Given the description of an element on the screen output the (x, y) to click on. 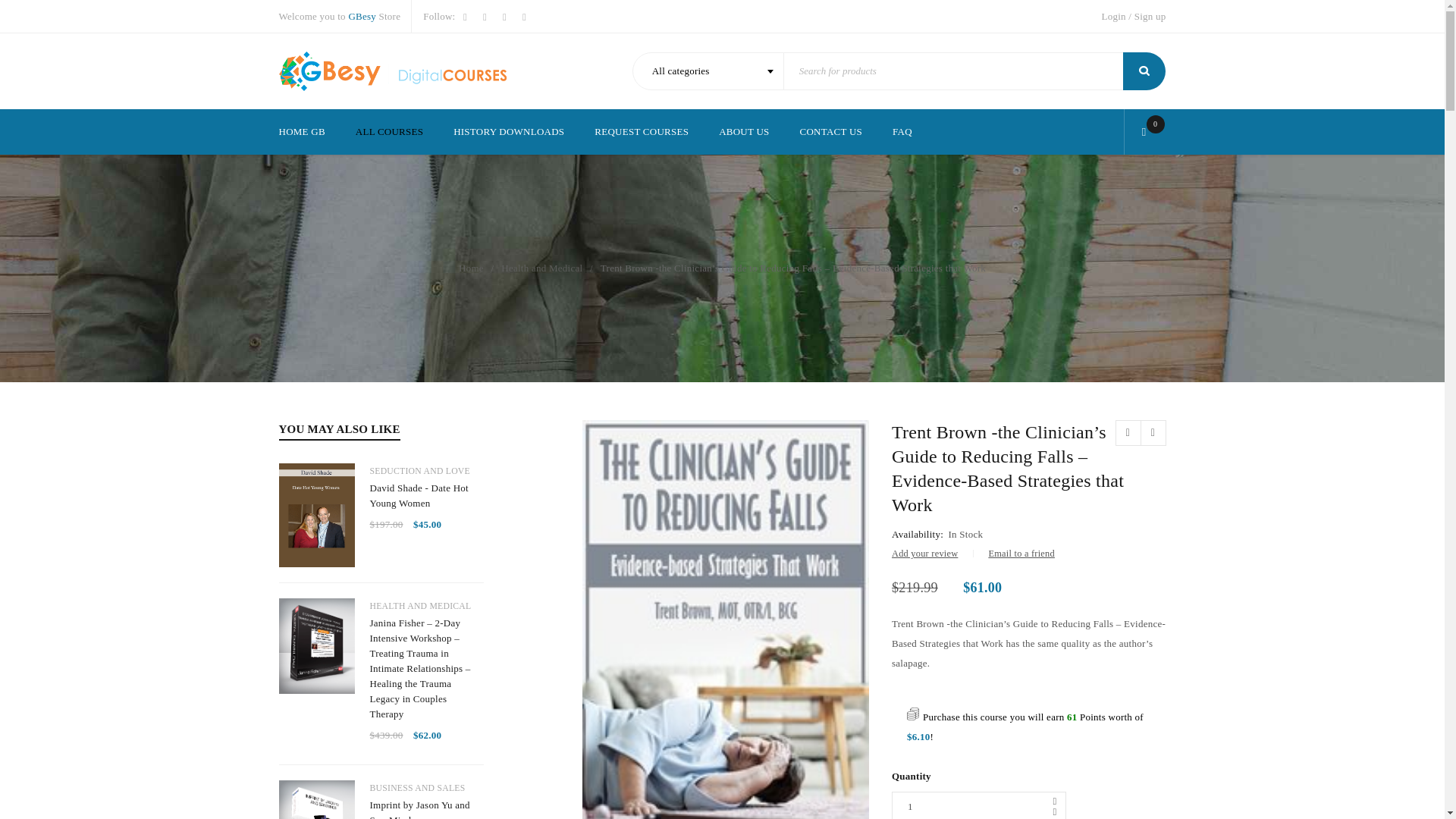
Login (1112, 16)
CONTACT US (830, 131)
HISTORY DOWNLOADS (508, 131)
0 (1148, 132)
Login (1112, 16)
Create New Account (1150, 16)
Health and Medical (541, 267)
David Shade - Date Hot Young Women (426, 495)
1 (978, 805)
ALL COURSES (389, 131)
David Shade - Date Hot Young Women (426, 495)
View your shopping bag (1148, 132)
Imprint by Jason Yu and SansMinds (426, 808)
HEALTH AND MEDICAL (420, 606)
Search (1144, 71)
